Given the description of an element on the screen output the (x, y) to click on. 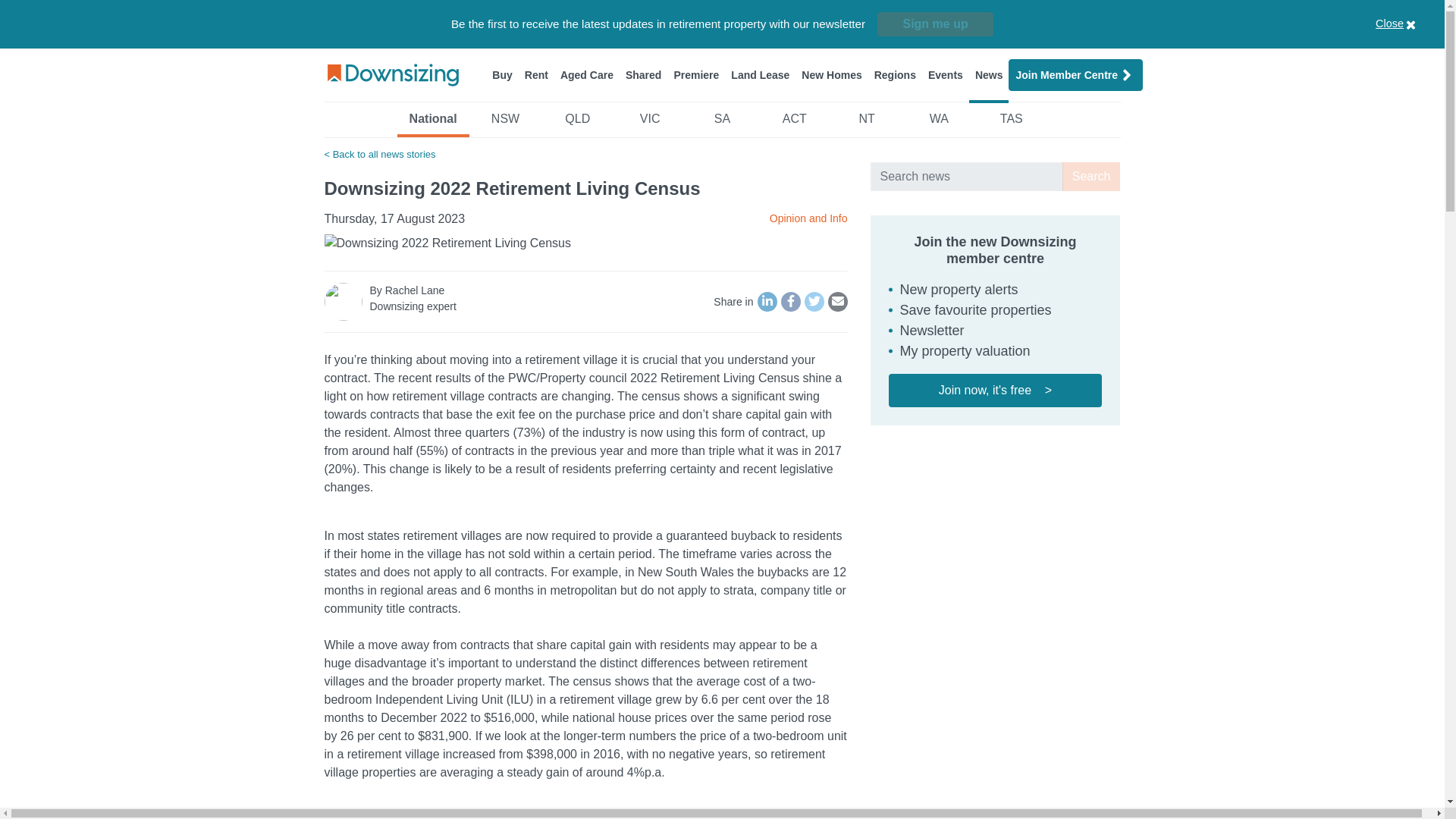
Search (1091, 176)
Join Member Centre (1075, 74)
TAS (1010, 123)
ACT (793, 123)
Sign me up (934, 24)
Shared (643, 74)
VIC (648, 123)
QLD (576, 123)
NSW (504, 123)
Aged Care (587, 74)
